Given the description of an element on the screen output the (x, y) to click on. 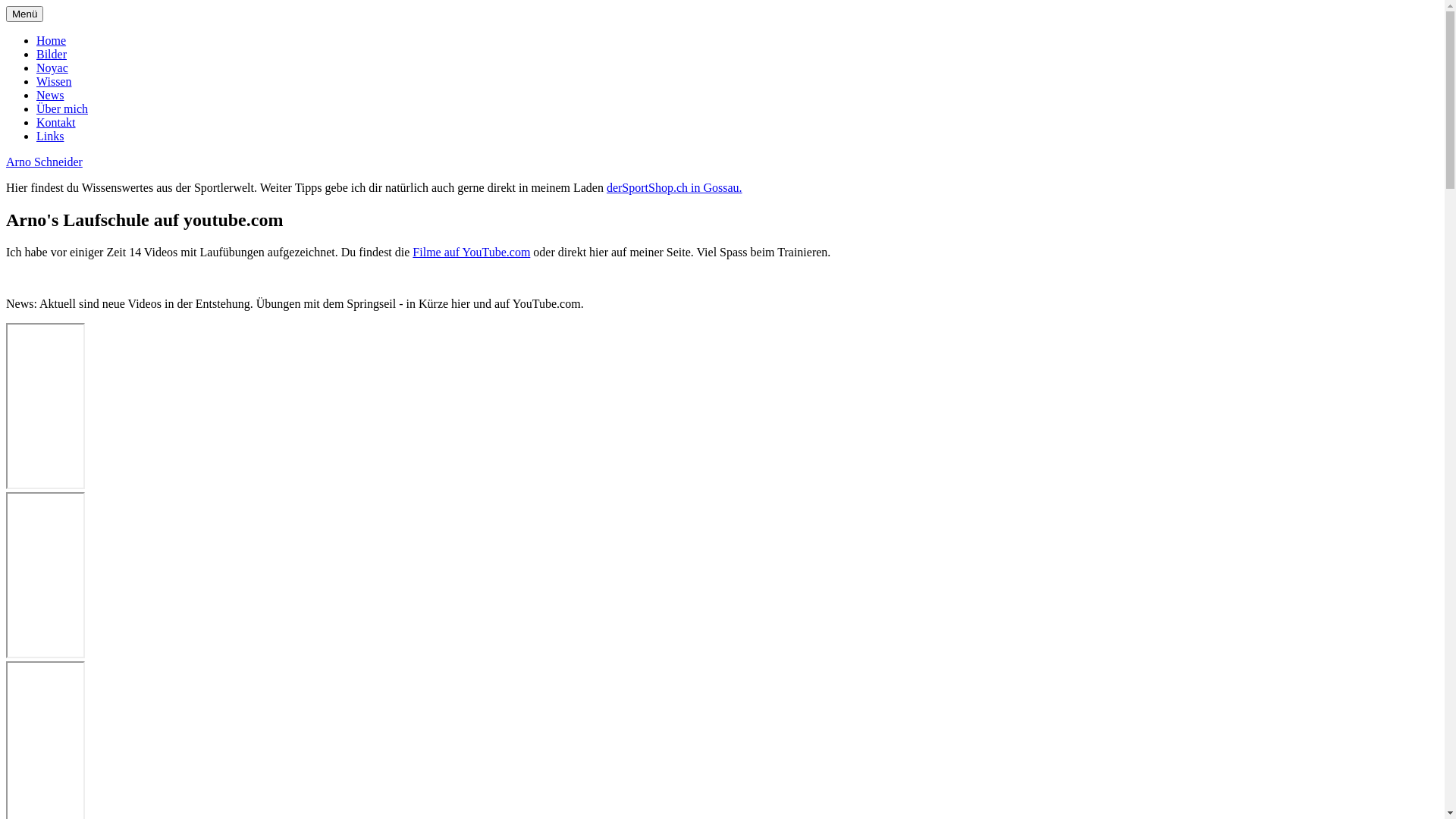
Kontakt Element type: text (55, 122)
Links Element type: text (49, 135)
Bilder Element type: text (51, 53)
Home Element type: text (50, 40)
Filme auf YouTube.com Element type: text (471, 251)
Wissen Element type: text (53, 81)
derSportShop.ch in Gossau. Element type: text (674, 187)
Noyac Element type: text (52, 67)
Arno Schneider Element type: text (44, 161)
News Element type: text (49, 94)
